Given the description of an element on the screen output the (x, y) to click on. 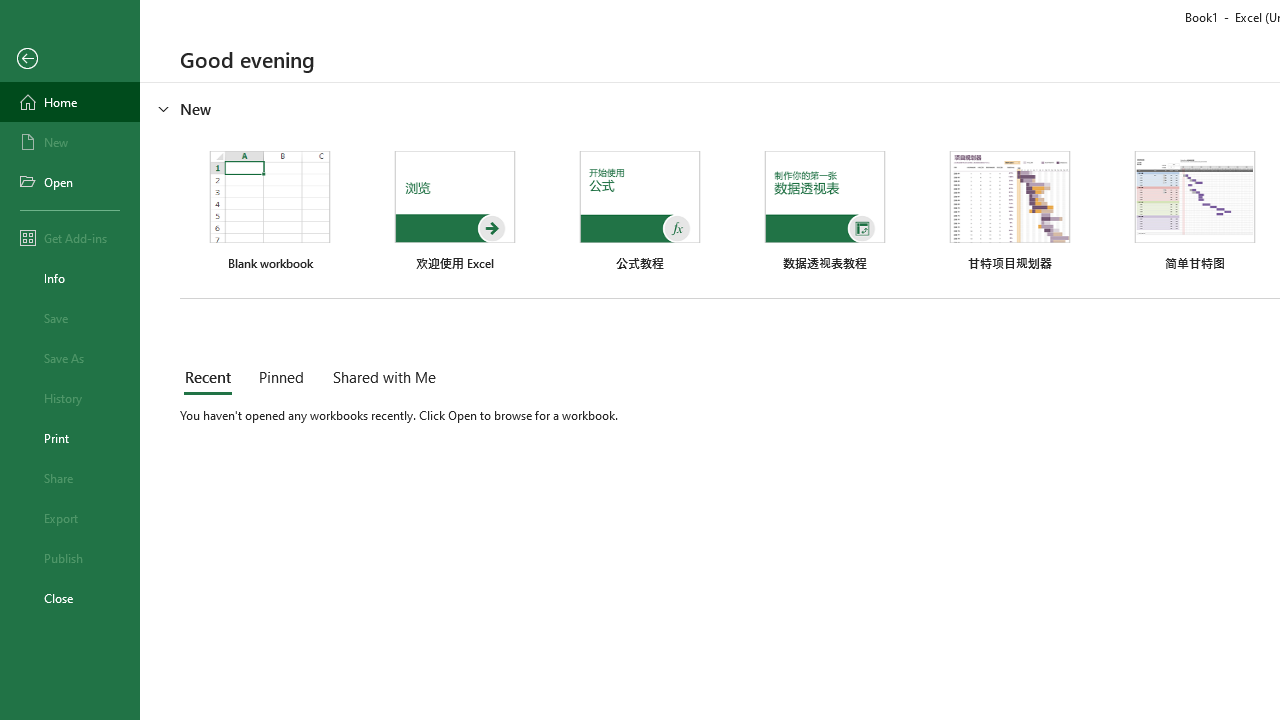
History (69, 398)
Get Add-ins (69, 237)
Hide or show region (164, 108)
Publish (69, 557)
Recent (212, 378)
Print (69, 437)
Shared with Me (379, 378)
Blank workbook (269, 211)
